Given the description of an element on the screen output the (x, y) to click on. 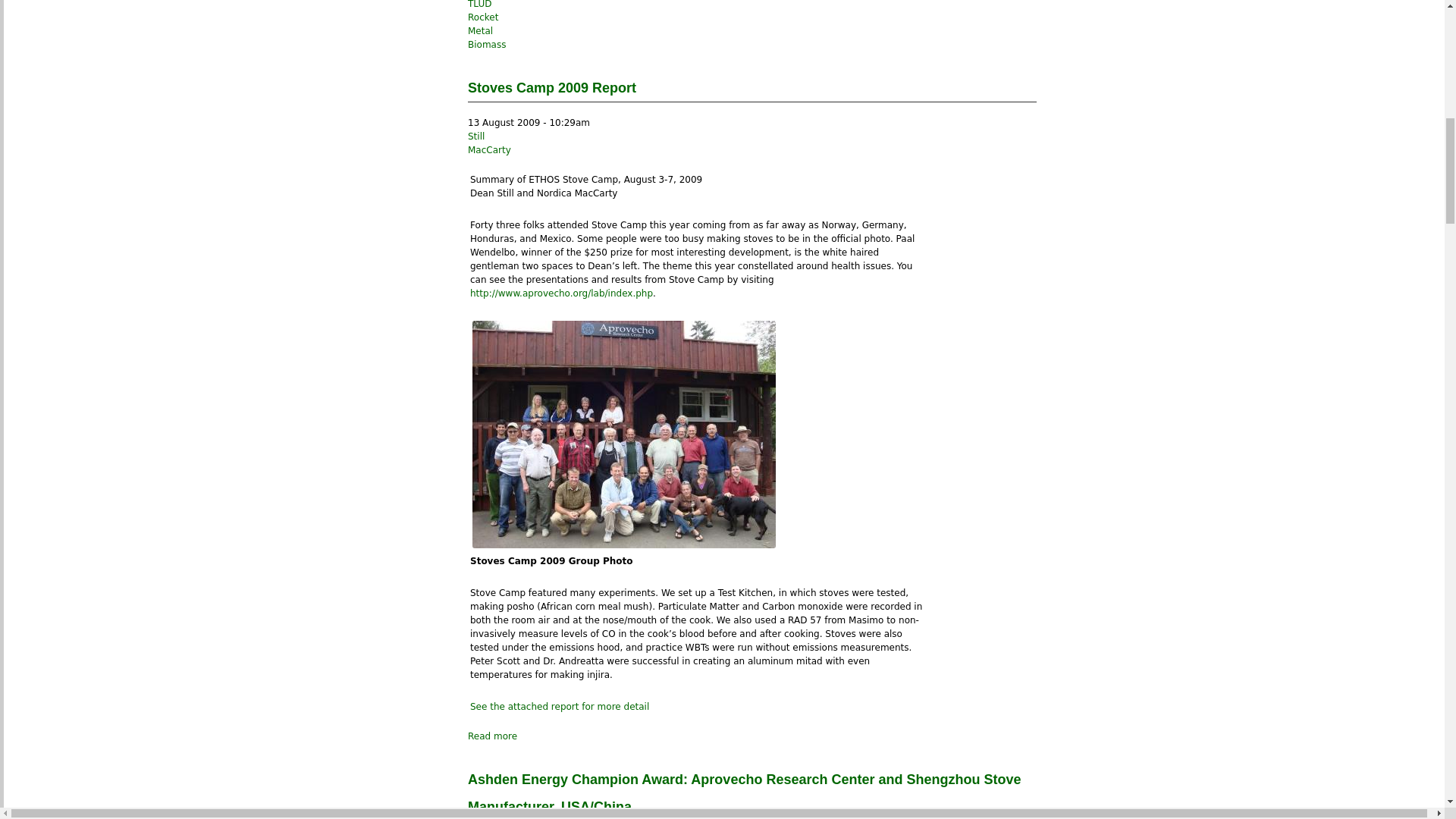
MacCarty (489, 149)
Biomass (486, 44)
See the attached report for more detail (559, 706)
Stoves Camp 2009 Report (551, 87)
Still (475, 136)
Stoves Camp 2009 Group Photo (623, 434)
Metal (480, 30)
TLUD (479, 4)
Rocket (482, 17)
Read more (491, 736)
